Given the description of an element on the screen output the (x, y) to click on. 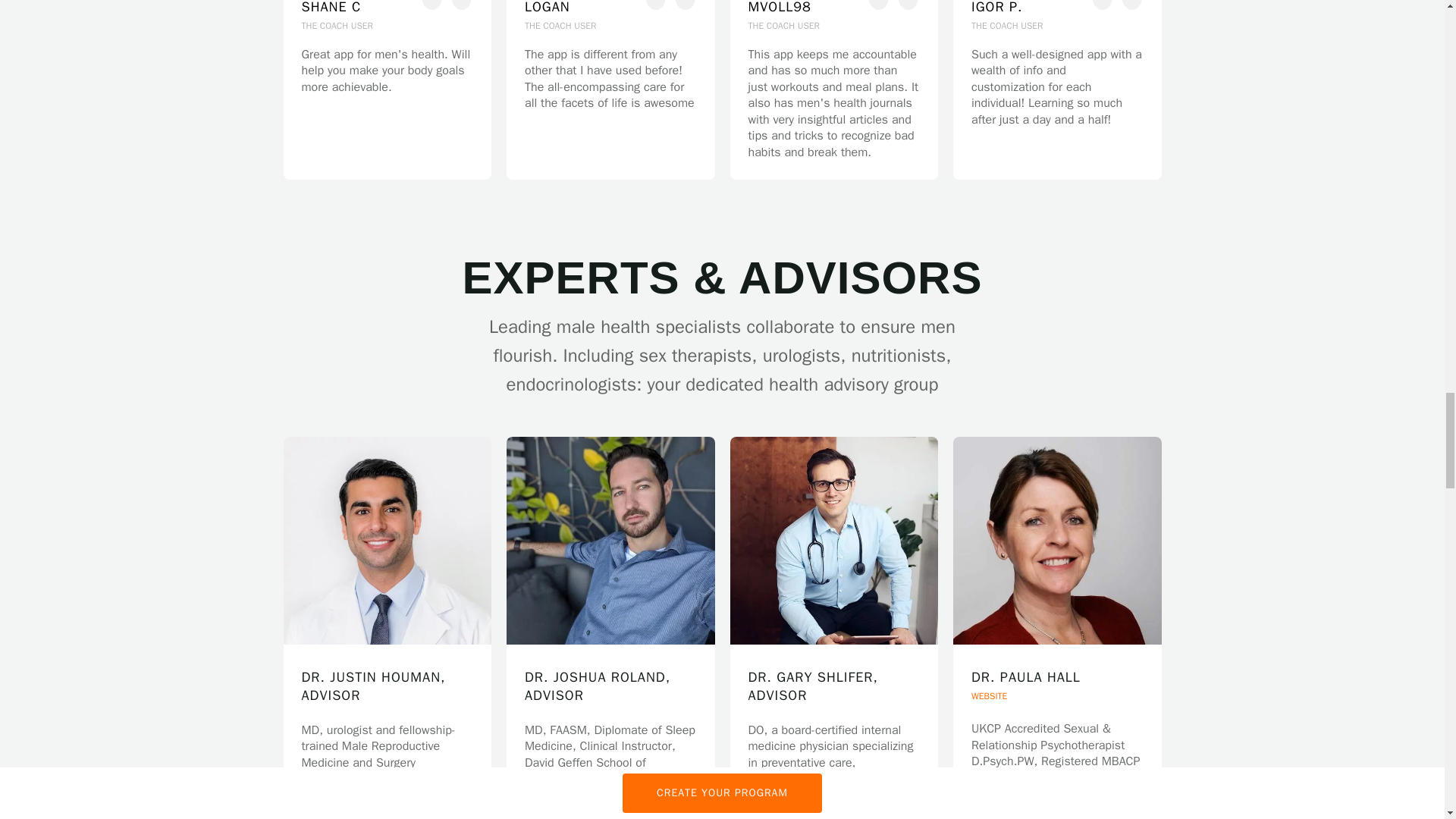
WEBSITE (1057, 810)
